Given the description of an element on the screen output the (x, y) to click on. 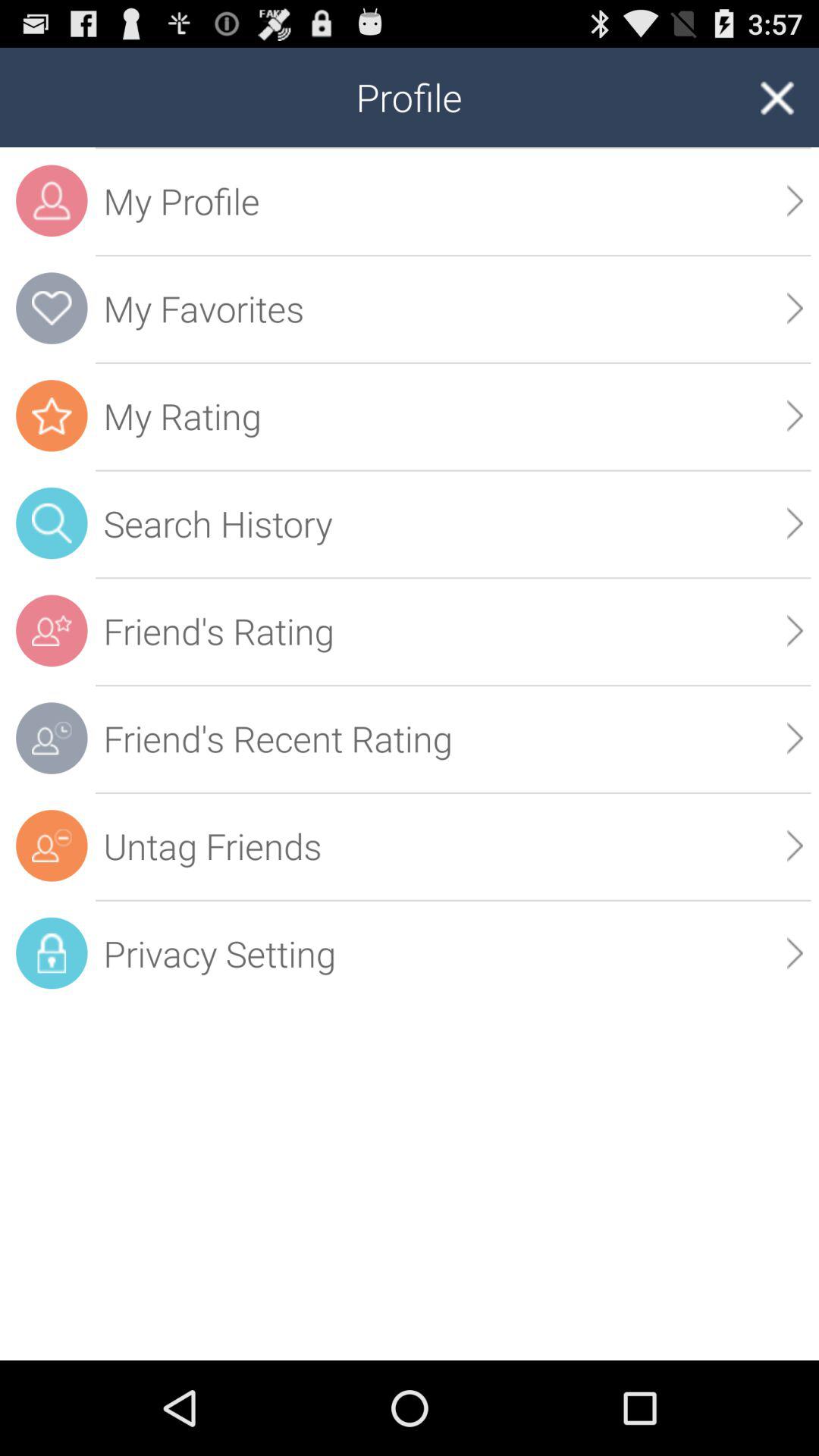
choose the app below my favorites app (453, 415)
